Given the description of an element on the screen output the (x, y) to click on. 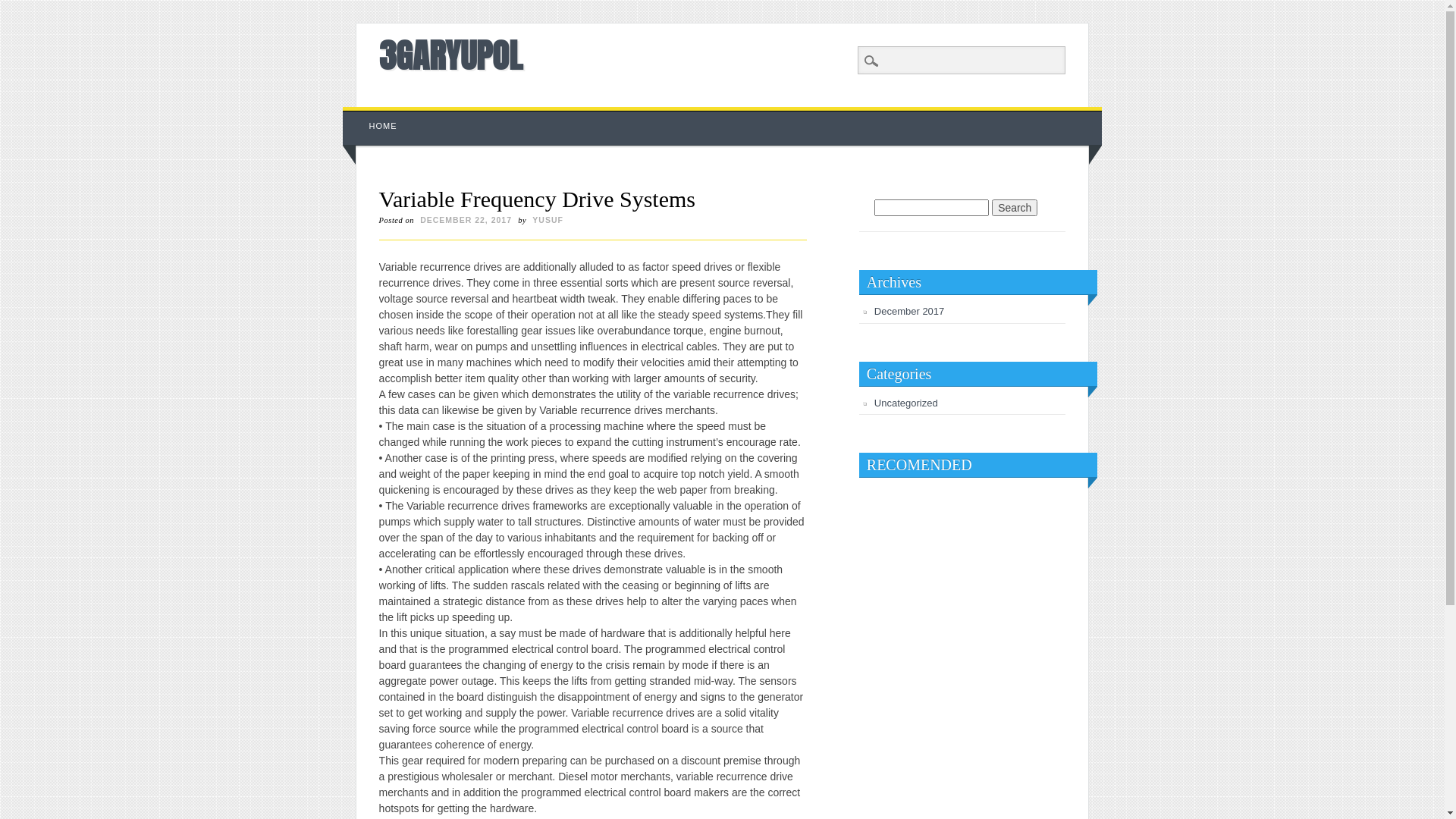
Variable Frequency Drive Systems Element type: text (537, 198)
Uncategorized Element type: text (906, 402)
YUSUF Element type: text (547, 219)
December 2017 Element type: text (909, 310)
DECEMBER 22, 2017 Element type: text (465, 219)
Skip to content Element type: text (377, 114)
HOME Element type: text (383, 125)
Search Element type: text (22, 8)
Search Element type: text (1014, 207)
3GARYUPOL Element type: text (450, 55)
